Given the description of an element on the screen output the (x, y) to click on. 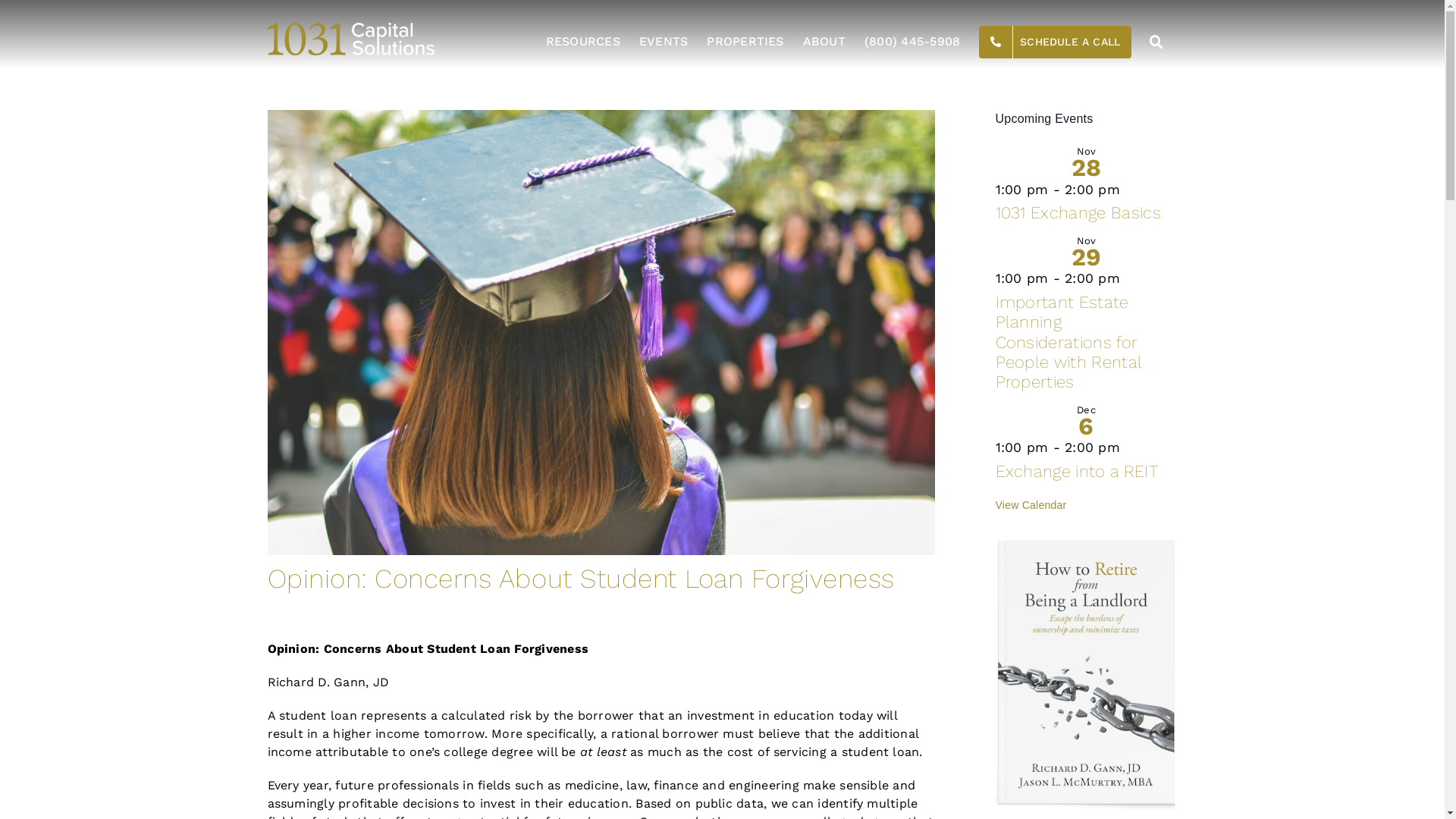
RESOURCES Element type: text (583, 41)
1031 Exchange Basics Element type: text (1077, 212)
(800) 445-5908 Element type: text (912, 41)
View Calendar Element type: text (1030, 504)
PROPERTIES Element type: text (744, 41)
EVENTS Element type: text (663, 41)
SCHEDULE A CALL Element type: text (1055, 41)
ABOUT Element type: text (824, 41)
Exchange into a REIT Element type: text (1075, 470)
md-duran-1VqHRwxcCCw-unsplash Element type: hover (600, 332)
